Given the description of an element on the screen output the (x, y) to click on. 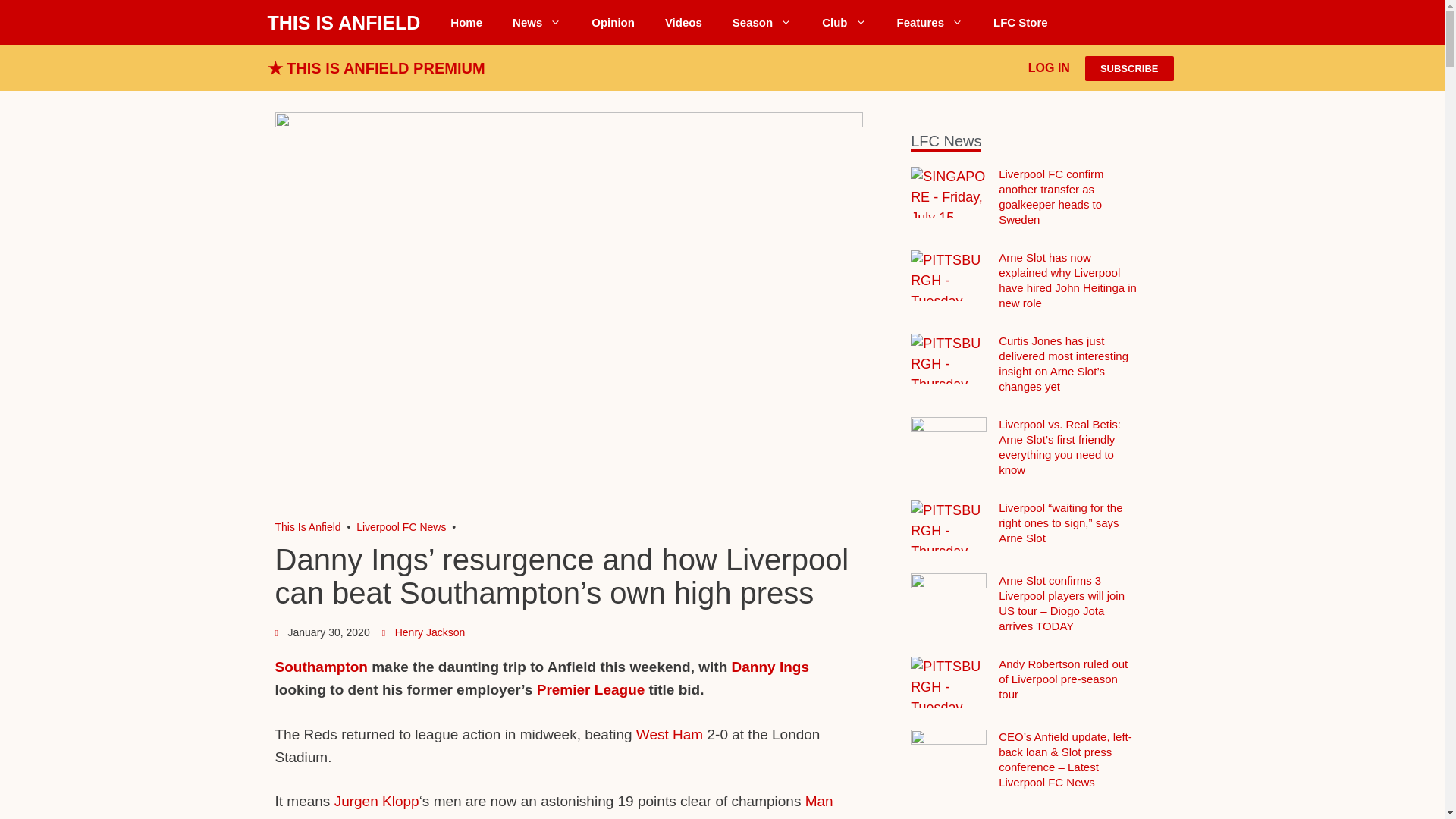
THIS IS ANFIELD (343, 22)
Videos (683, 22)
Go to the Liverpool FC News category archives. (400, 526)
Season (761, 22)
Liverpool FC (307, 526)
Liverpool FC Opinion (612, 22)
Liverpool FC Features (929, 22)
Features (929, 22)
Opinion (612, 22)
Liverpool FC News (536, 22)
News (536, 22)
Liverpool FC Videos (683, 22)
Club (843, 22)
Home (466, 22)
